Given the description of an element on the screen output the (x, y) to click on. 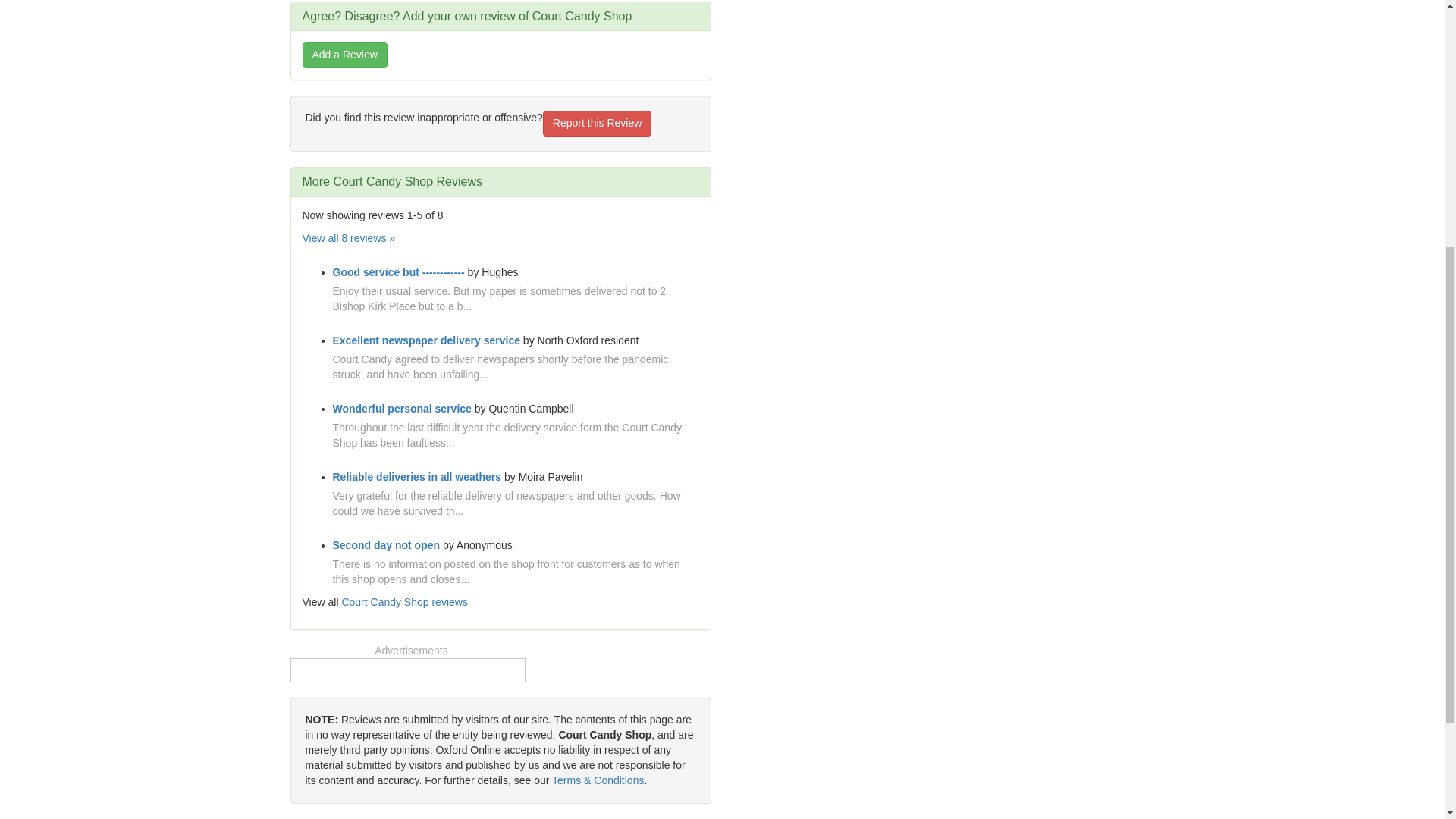
Wonderful personal service (400, 408)
Excellent newspaper delivery service (425, 340)
Court Candy Shop reviews (403, 602)
Reliable deliveries in all weathers (415, 476)
Second day not open (385, 544)
Add a Review (344, 54)
Good service but ------------ (397, 272)
Advertisement (1091, 59)
Report this Review (597, 123)
